Given the description of an element on the screen output the (x, y) to click on. 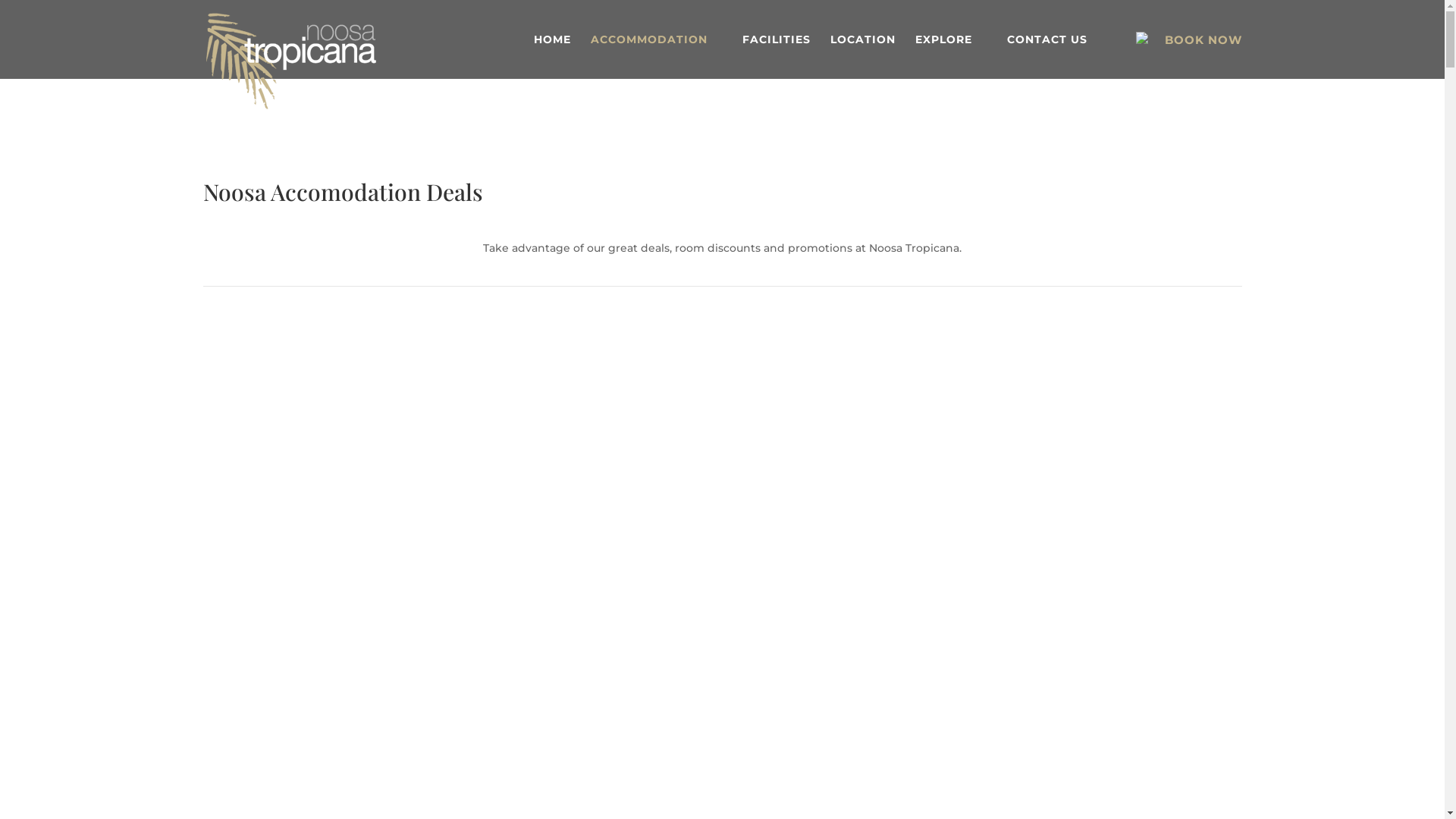
HOME Element type: text (552, 56)
CONTACT US Element type: text (1054, 56)
FACILITIES Element type: text (775, 56)
BOOK NOW Element type: text (1203, 39)
ACCOMMODATION Element type: text (655, 56)
EXPLORE Element type: text (950, 56)
LOCATION Element type: text (861, 56)
